Given the description of an element on the screen output the (x, y) to click on. 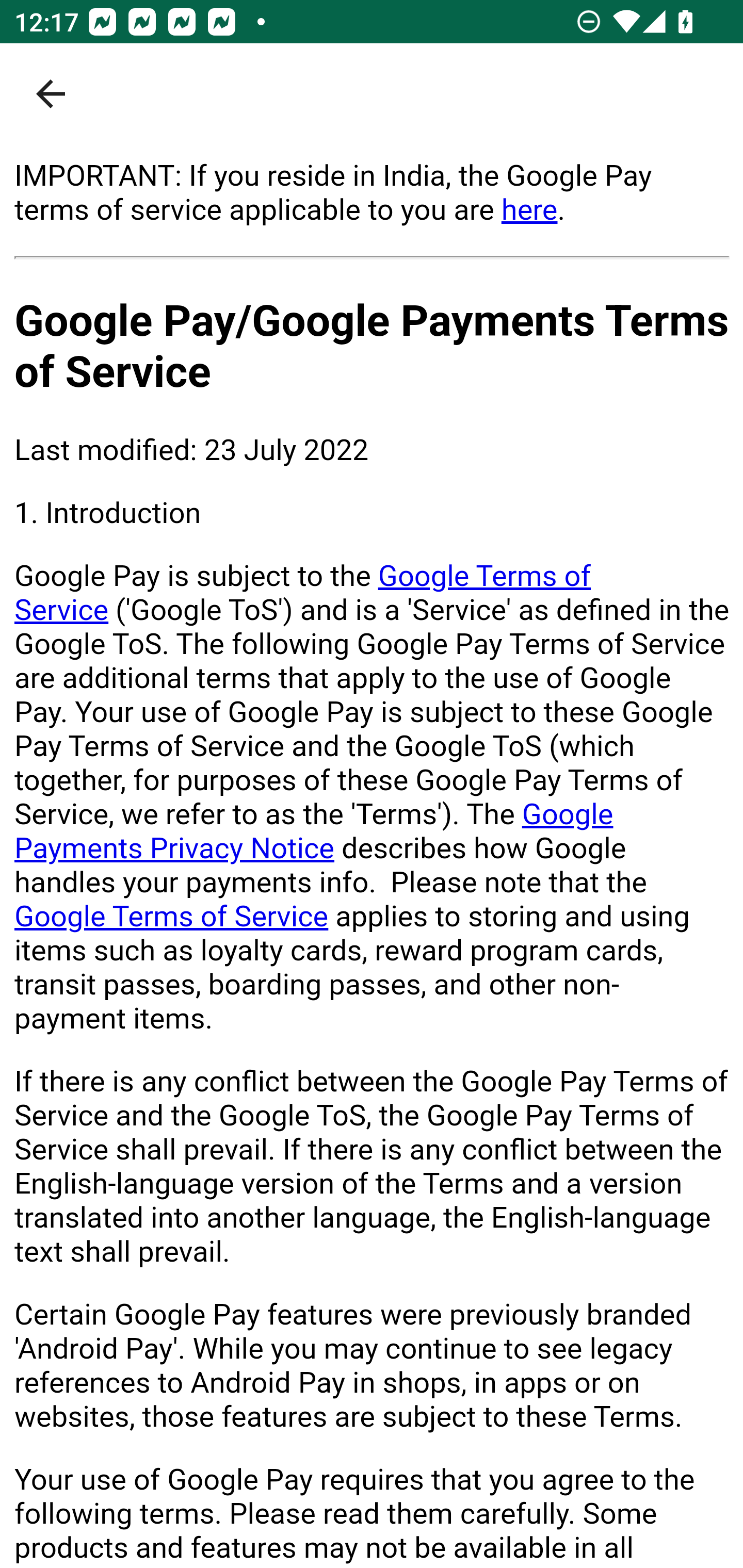
Navigate up (50, 93)
here (528, 209)
Google Terms of Service (303, 593)
Google Payments Privacy Notice (313, 831)
Google Terms of Service (171, 916)
